Given the description of an element on the screen output the (x, y) to click on. 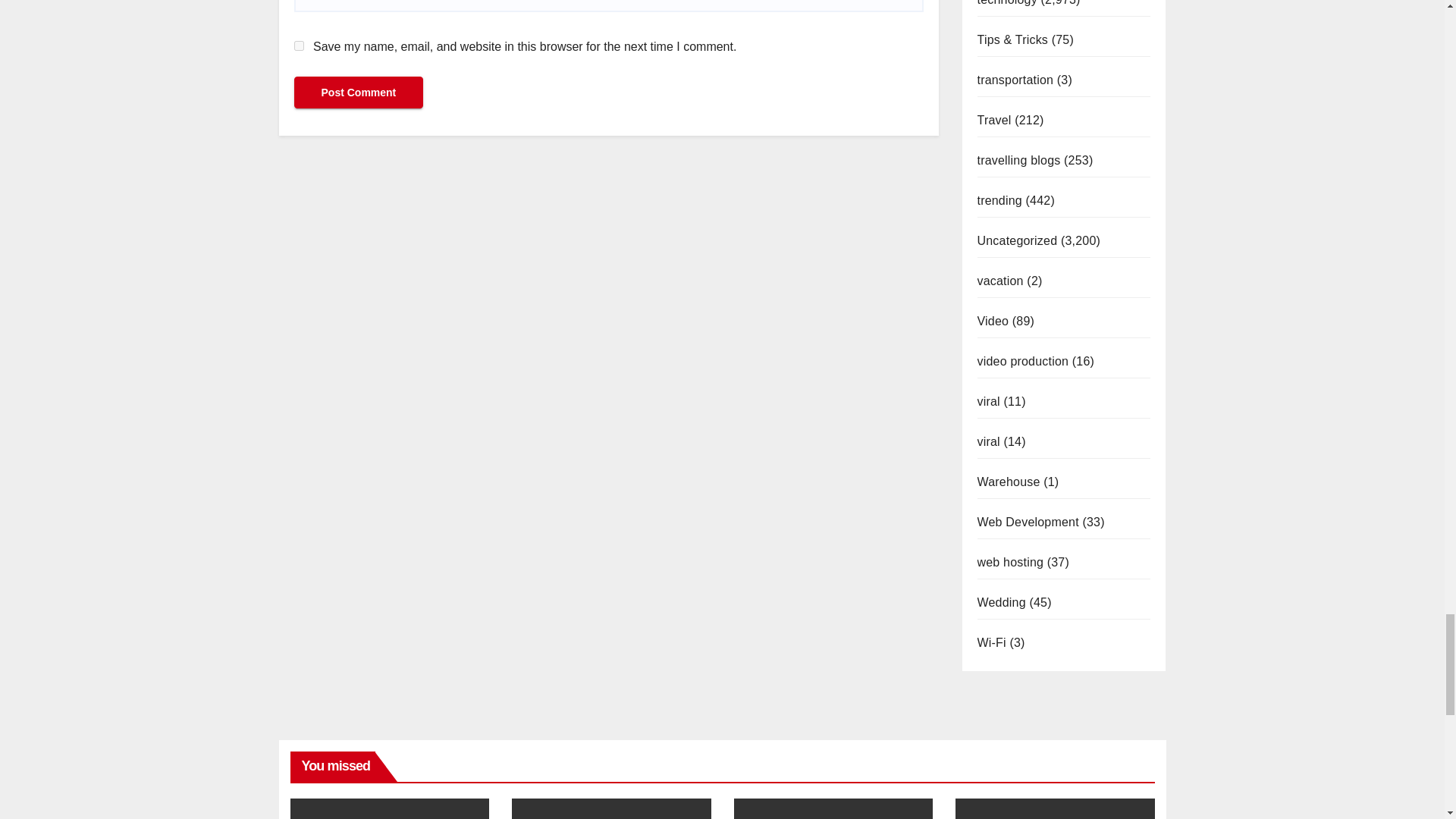
yes (299, 45)
Post Comment (358, 92)
